Given the description of an element on the screen output the (x, y) to click on. 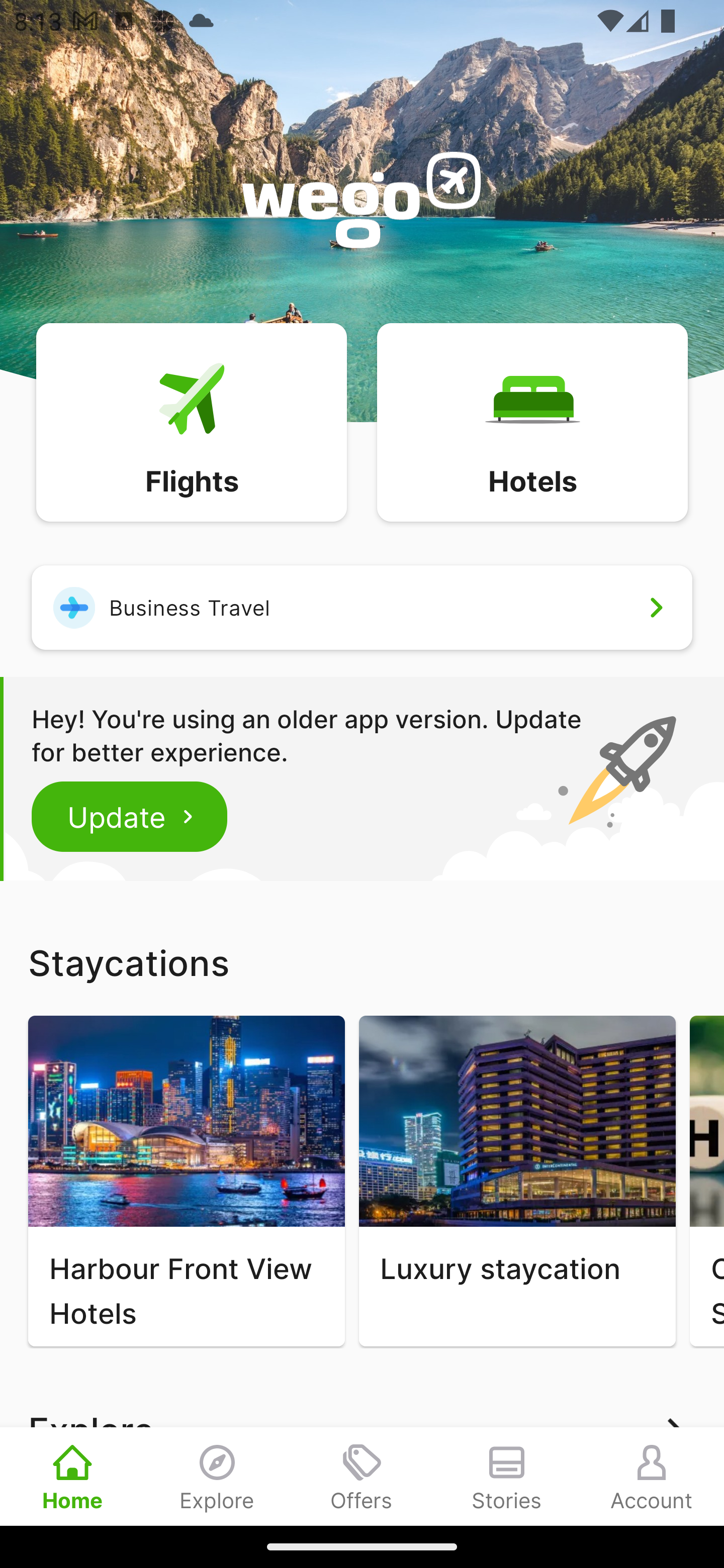
Flights (191, 420)
Hotels (532, 420)
Business Travel (361, 607)
Update (129, 815)
Staycations (362, 962)
Harbour Front View Hotels (186, 1181)
Luxury staycation (517, 1181)
Explore (216, 1475)
Offers (361, 1475)
Stories (506, 1475)
Account (651, 1475)
